Given the description of an element on the screen output the (x, y) to click on. 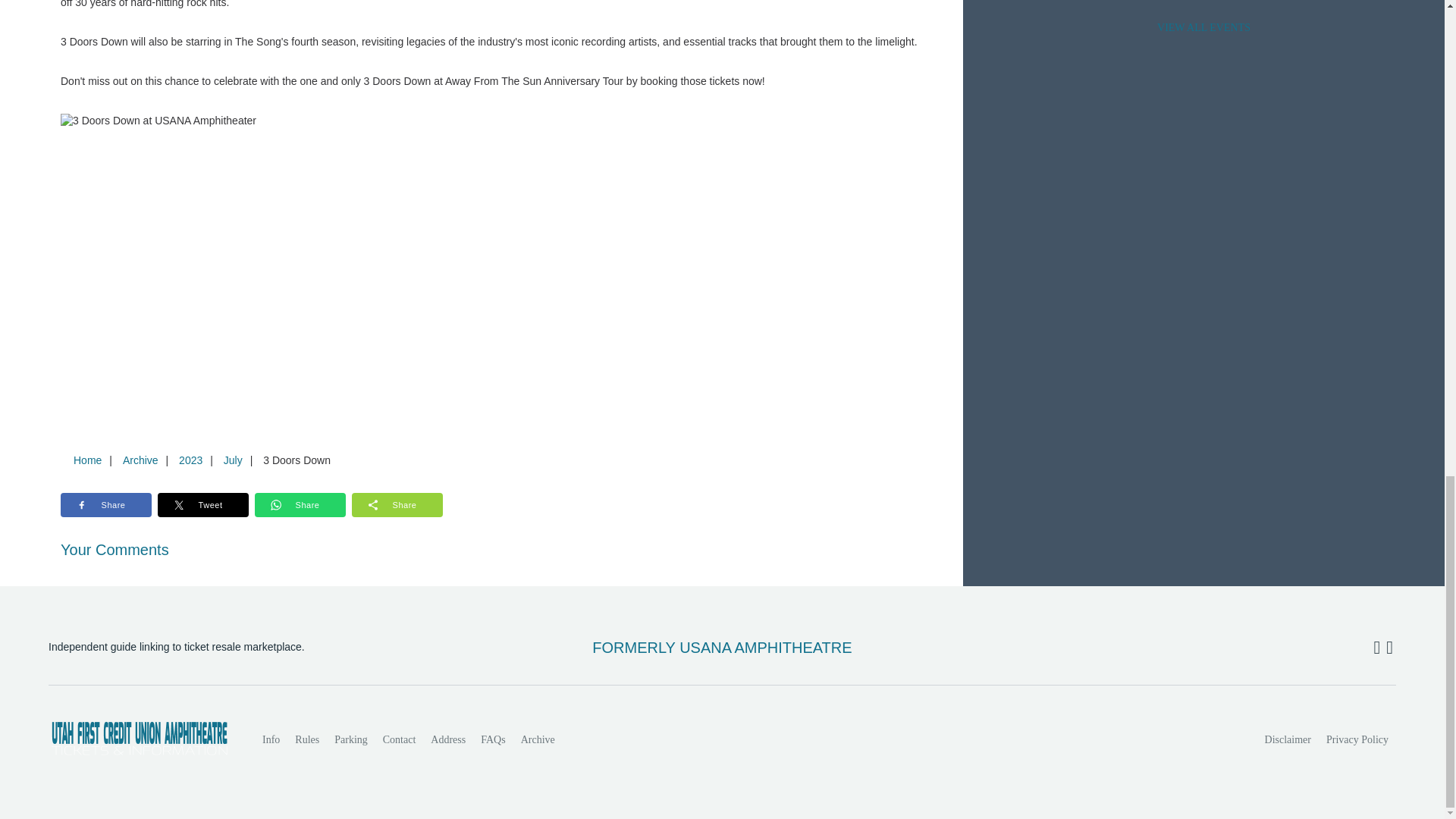
Disclaimer (1288, 739)
VIEW ALL EVENTS (1203, 27)
Parking (350, 739)
Info (270, 739)
Home (87, 460)
2023 (190, 460)
Archive (140, 460)
Archive (537, 739)
Rules (306, 739)
Privacy Policy (1357, 739)
FAQs (492, 739)
Contact (399, 739)
3 Doors Down at USANA Amphitheater tickets (500, 120)
Address (448, 739)
July (232, 460)
